Given the description of an element on the screen output the (x, y) to click on. 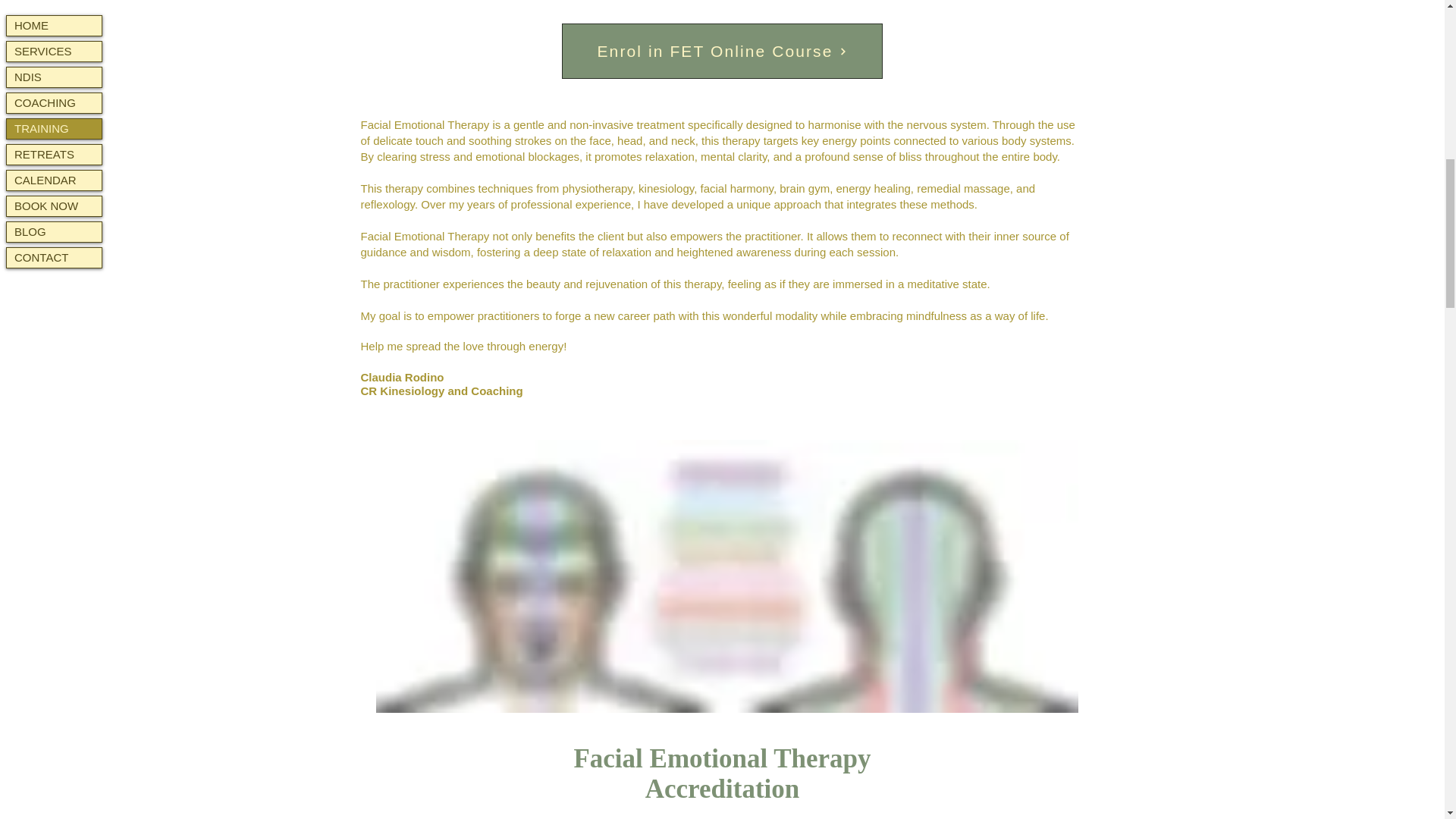
Enrol in FET Online Course (721, 50)
